Given the description of an element on the screen output the (x, y) to click on. 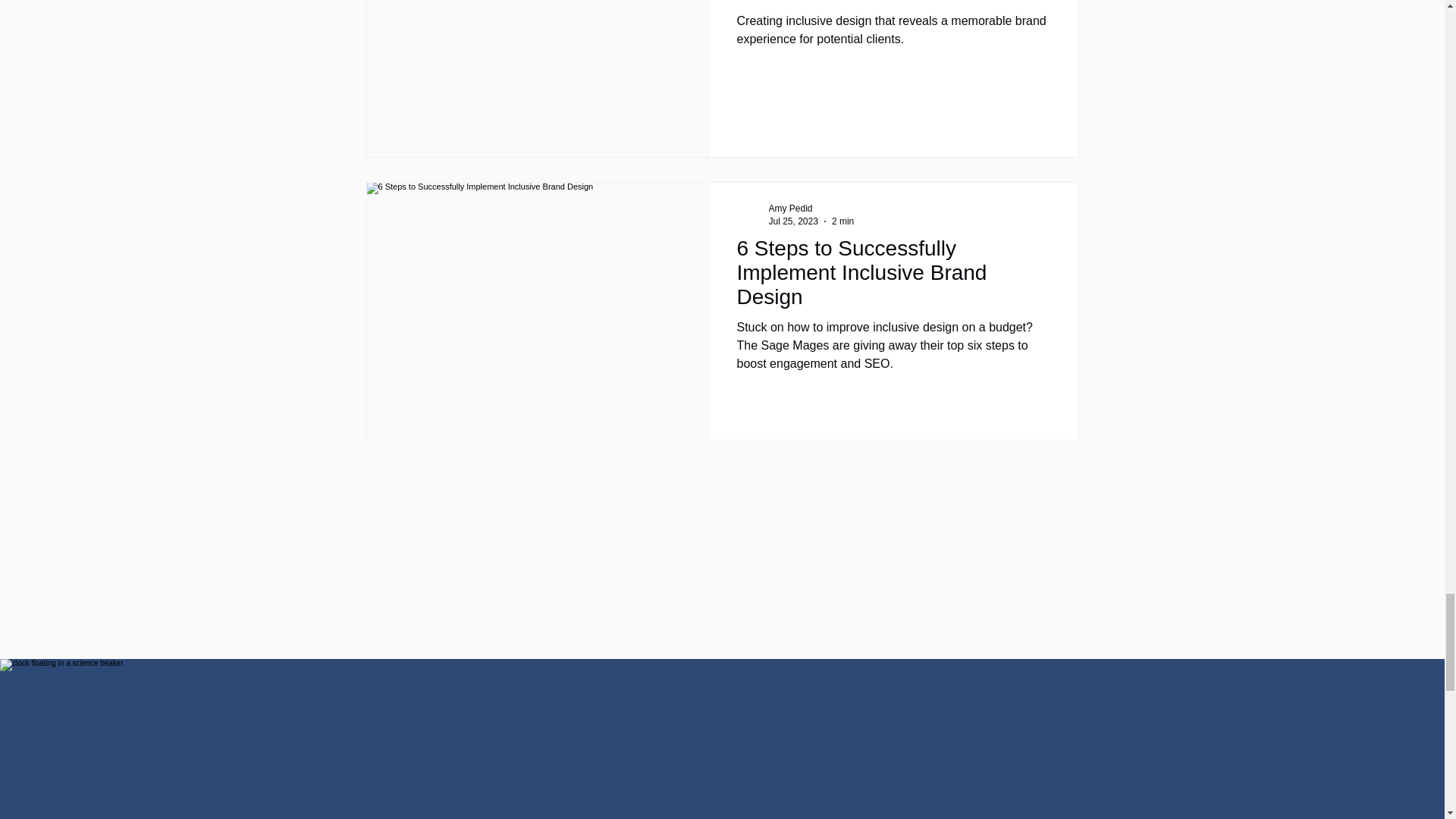
6 Steps to Successfully Implement Inclusive Brand Design (893, 276)
Accessible Event Case Study: Know Your Network with runZero (893, 6)
Jul 25, 2023 (793, 221)
2 min (842, 221)
Amy Pedid (811, 208)
Amy Pedid (790, 208)
